Given the description of an element on the screen output the (x, y) to click on. 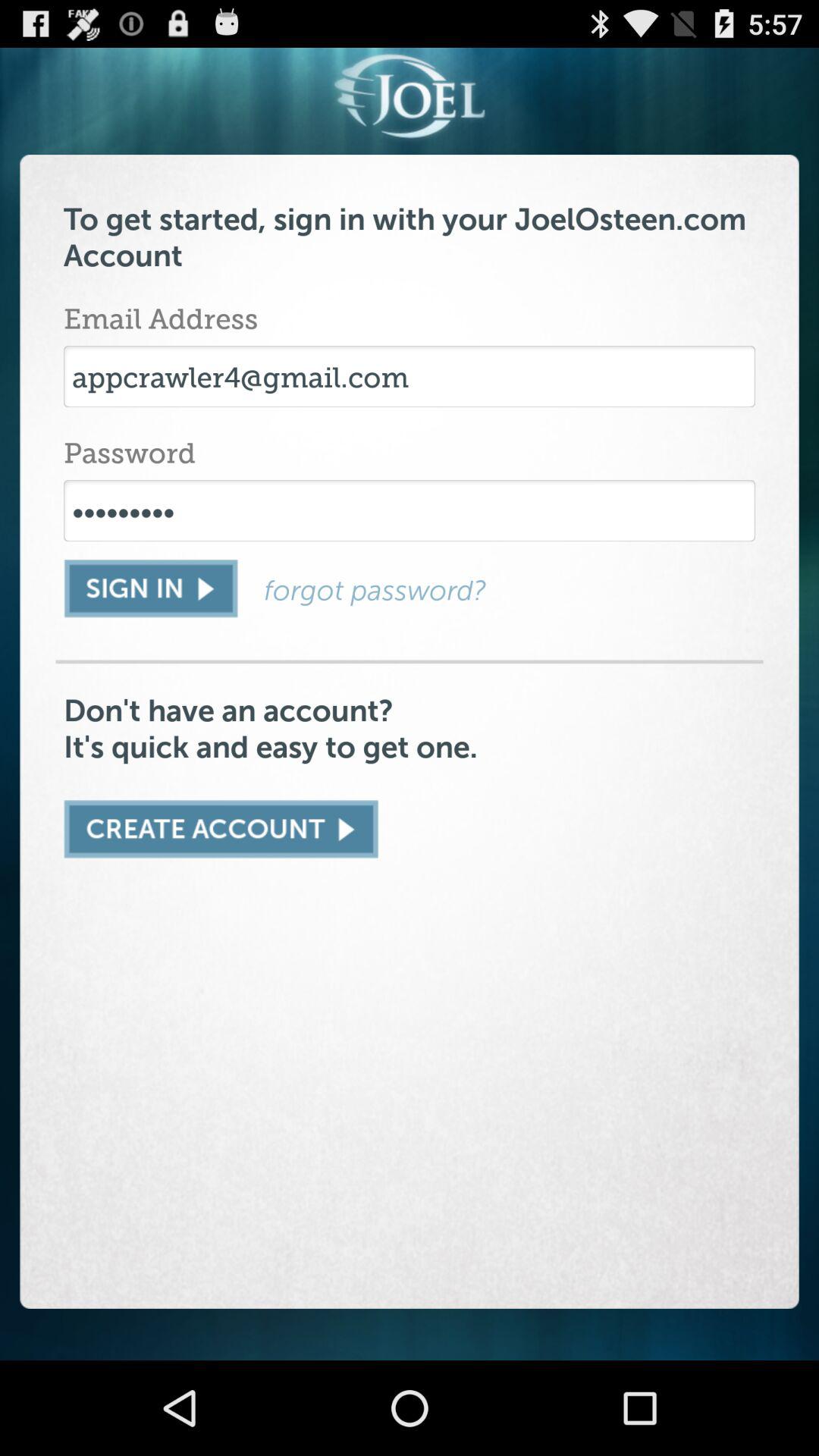
select the appcrawler4@gmail.com icon (409, 376)
